Given the description of an element on the screen output the (x, y) to click on. 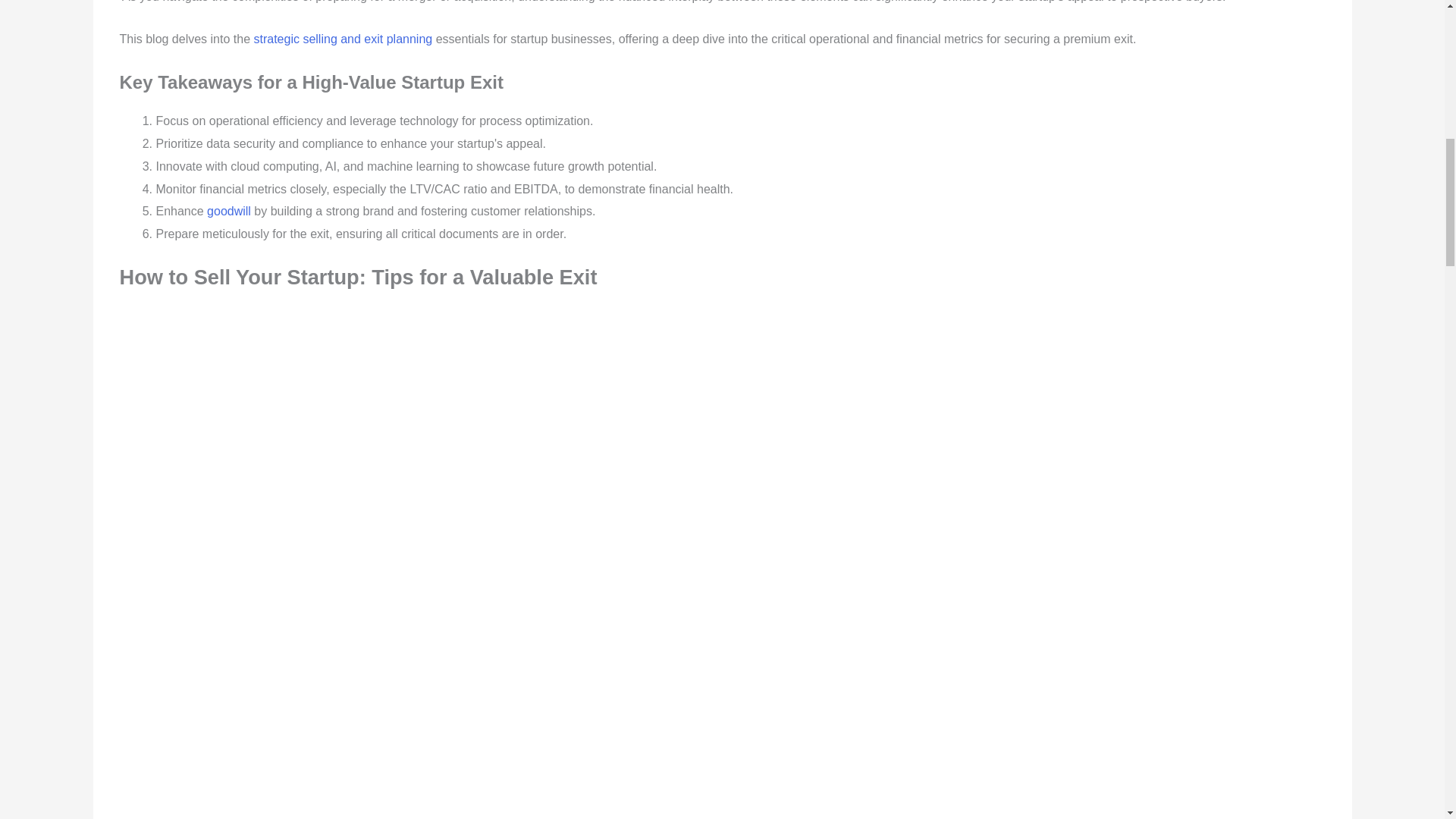
goodwill (228, 210)
goodwill (228, 210)
strategic selling and exit planning (342, 38)
